Given the description of an element on the screen output the (x, y) to click on. 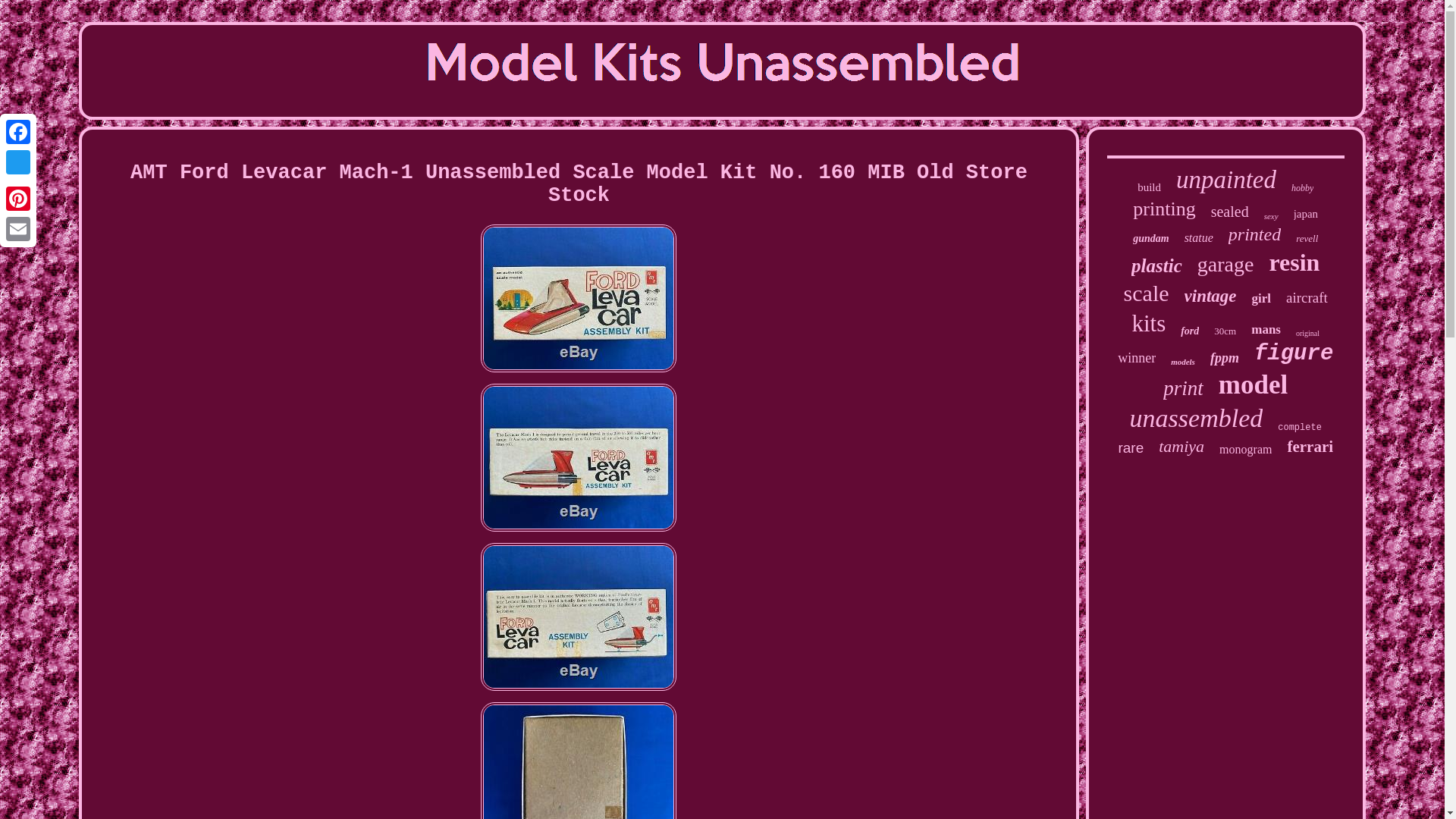
girl (1261, 298)
revell (1306, 238)
figure (1293, 353)
hobby (1302, 188)
unpainted (1226, 180)
vintage (1210, 296)
plastic (1156, 265)
